Given the description of an element on the screen output the (x, y) to click on. 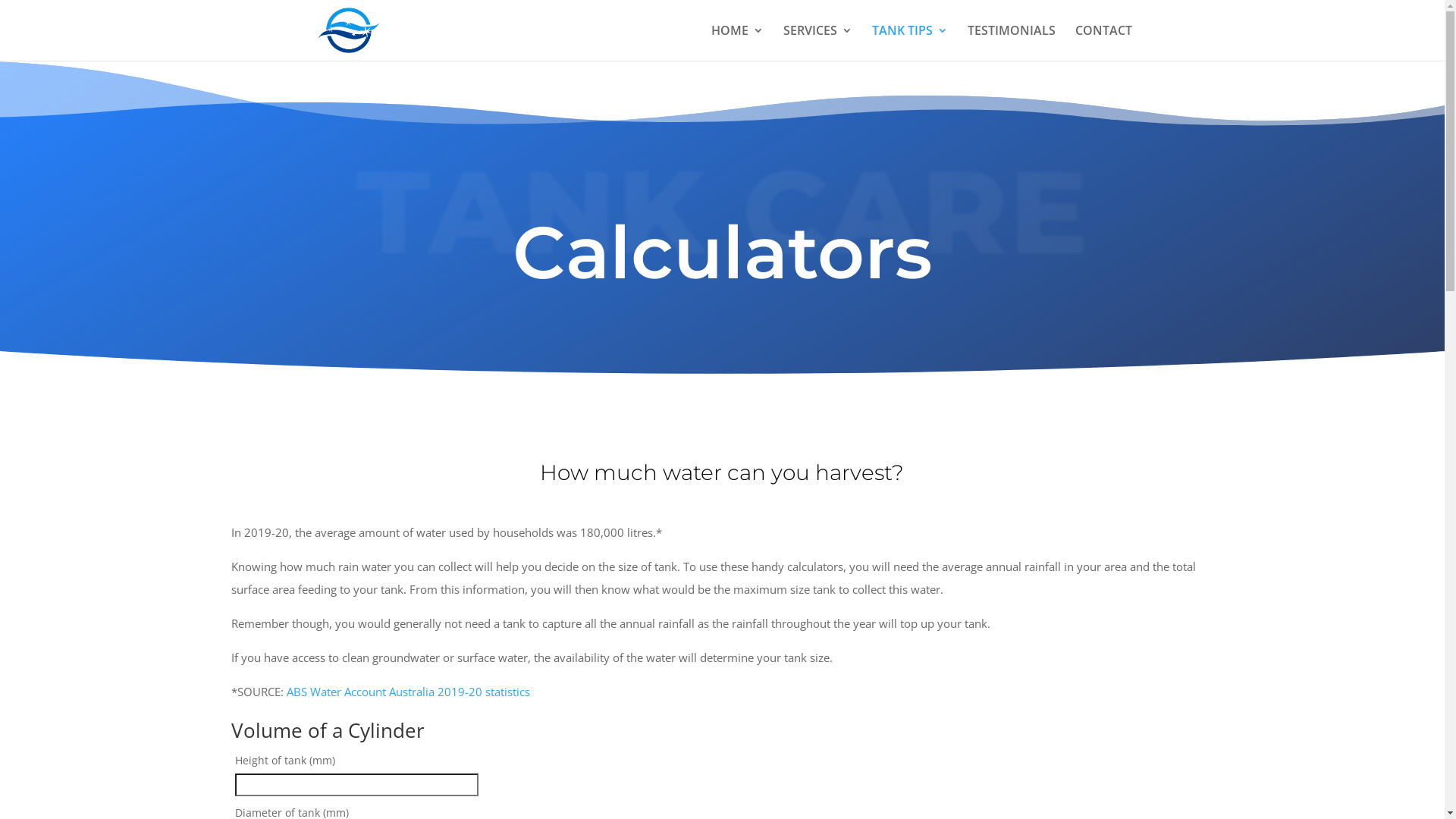
TANK TIPS Element type: text (909, 42)
CONTACT Element type: text (1103, 42)
ABS Water Account Australia 2019-20 statistics Element type: text (408, 691)
HOME Element type: text (737, 42)
TESTIMONIALS Element type: text (1011, 42)
SERVICES Element type: text (816, 42)
